Given the description of an element on the screen output the (x, y) to click on. 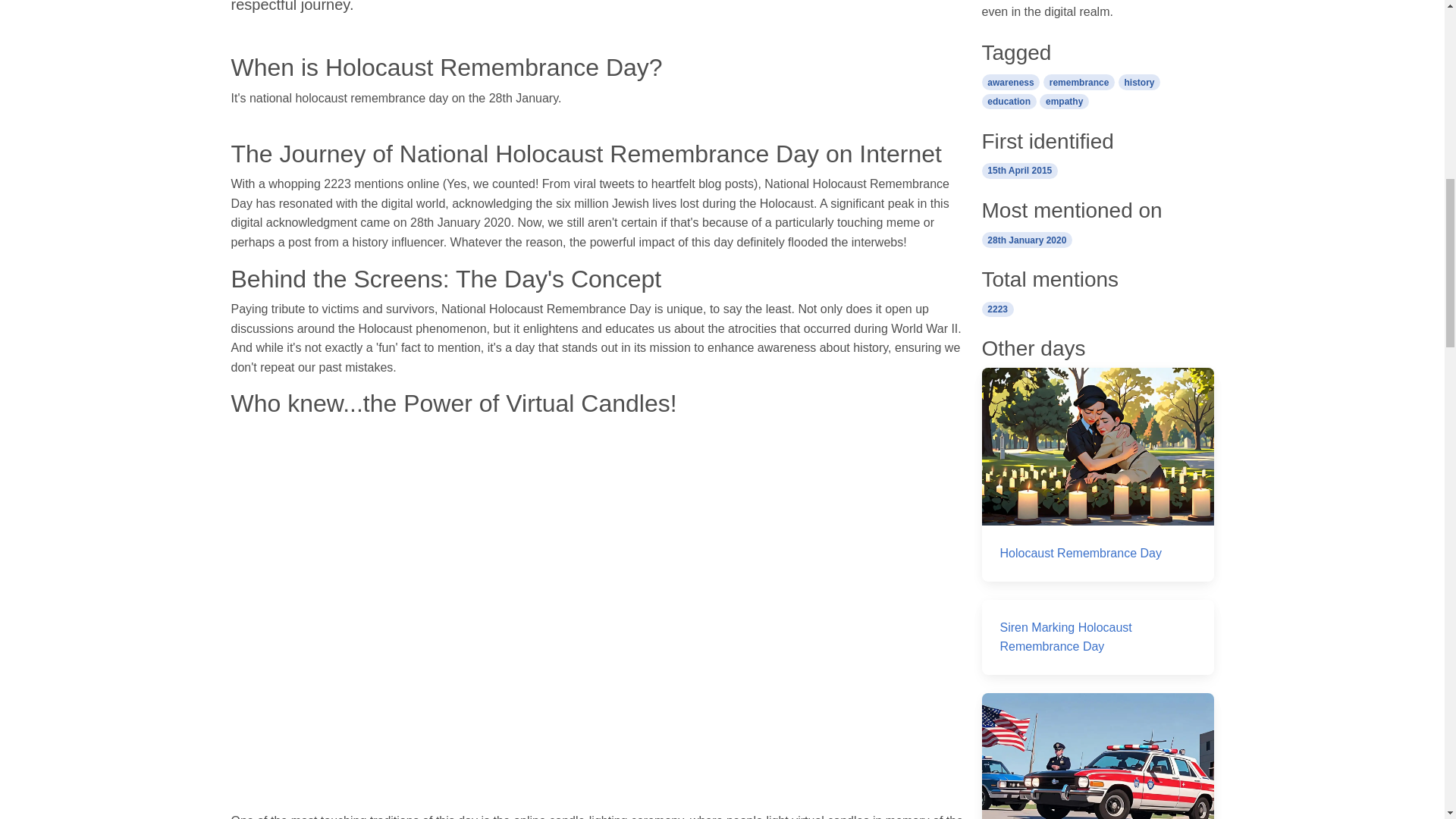
awareness (1010, 81)
Police Day (1096, 755)
education (1008, 100)
Holocaust Remembrance Day (1096, 474)
history (1139, 81)
empathy (1064, 100)
remembrance (1079, 81)
Siren Marking Holocaust Remembrance Day (1096, 636)
